Given the description of an element on the screen output the (x, y) to click on. 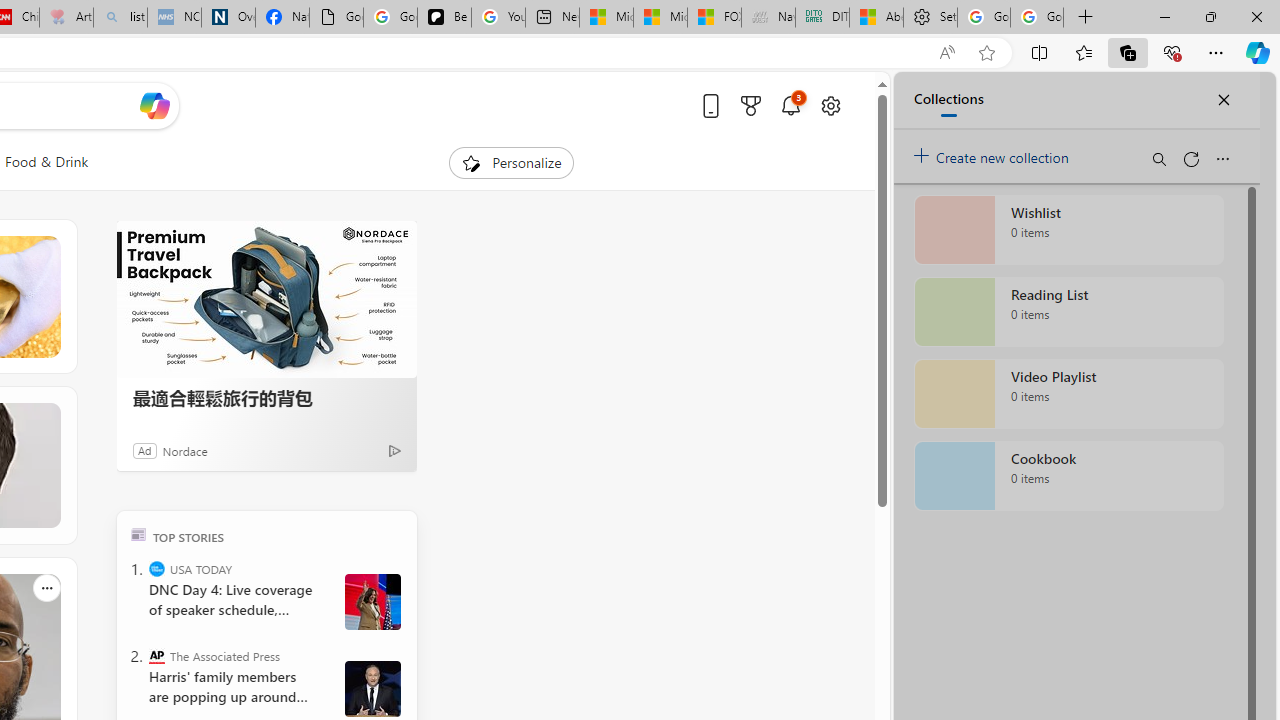
Personalize (511, 162)
TOP (138, 534)
FOX News - MSN (714, 17)
